Given the description of an element on the screen output the (x, y) to click on. 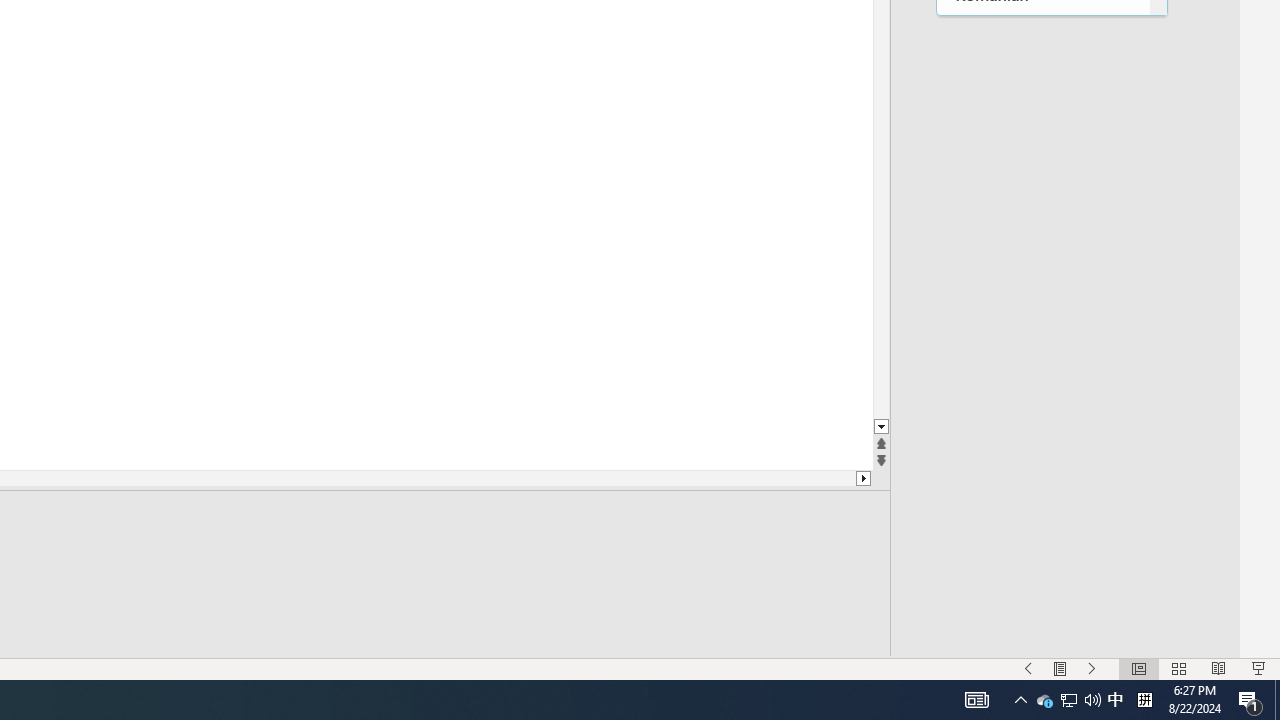
Slide Show Previous On (1028, 668)
Sinhala (1042, 444)
Sesotho (1042, 238)
Russian (1042, 74)
Shona (1042, 362)
Rundi (1042, 34)
Setswana (1042, 321)
Menu On (1060, 668)
Slide Show Next On (1092, 668)
Slovenian (1042, 526)
Slovak (1042, 485)
Swahili (1042, 649)
Sesotho sa Leboa (1042, 279)
